Given the description of an element on the screen output the (x, y) to click on. 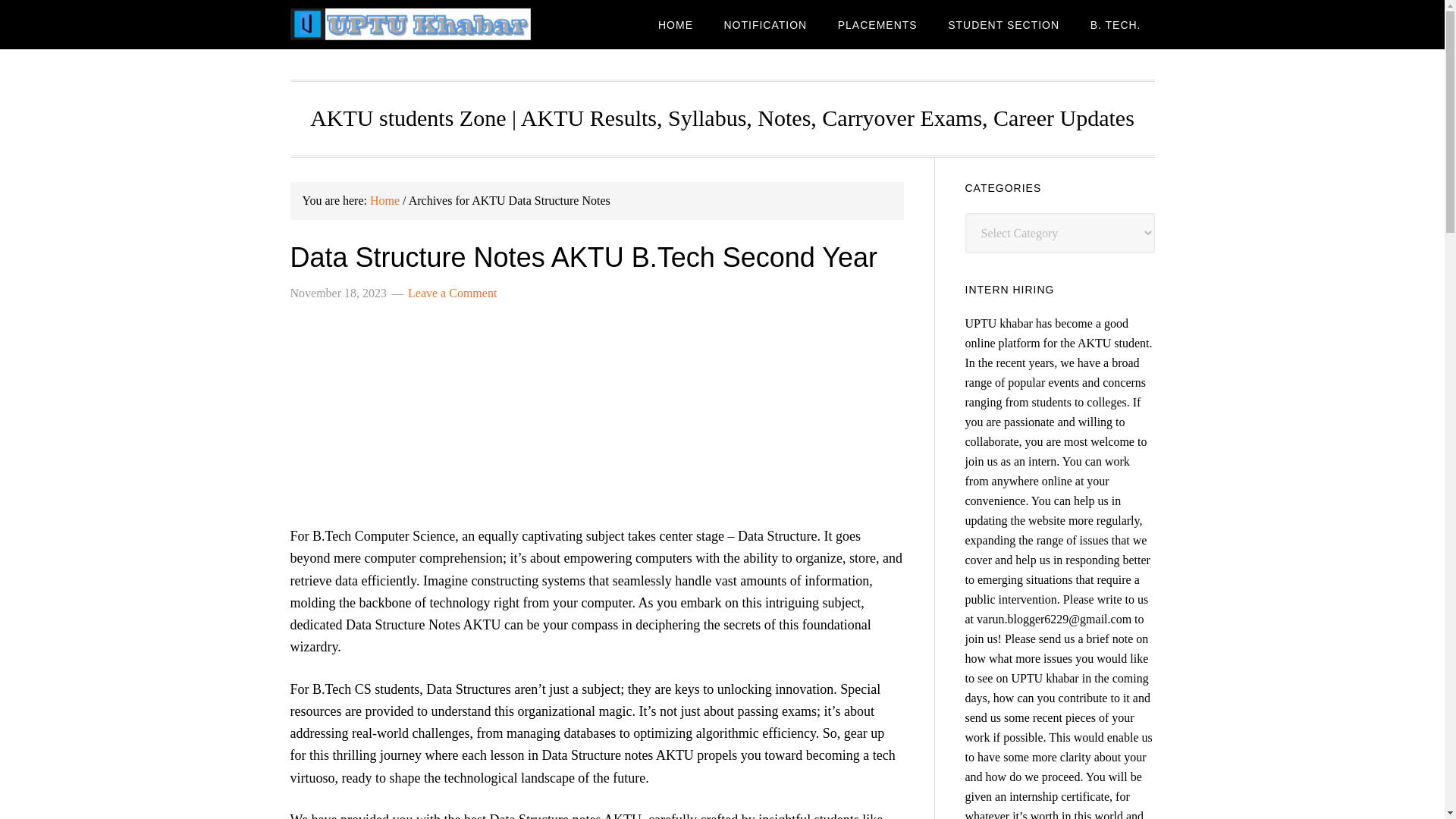
Home (383, 200)
UPTU KHABAR (410, 24)
Data Structure Notes AKTU B.Tech Second Year (582, 256)
STUDENT SECTION (1003, 24)
PLACEMENTS (877, 24)
Leave a Comment (451, 292)
NOTIFICATION (765, 24)
B. TECH. (1115, 24)
HOME (675, 24)
